Given the description of an element on the screen output the (x, y) to click on. 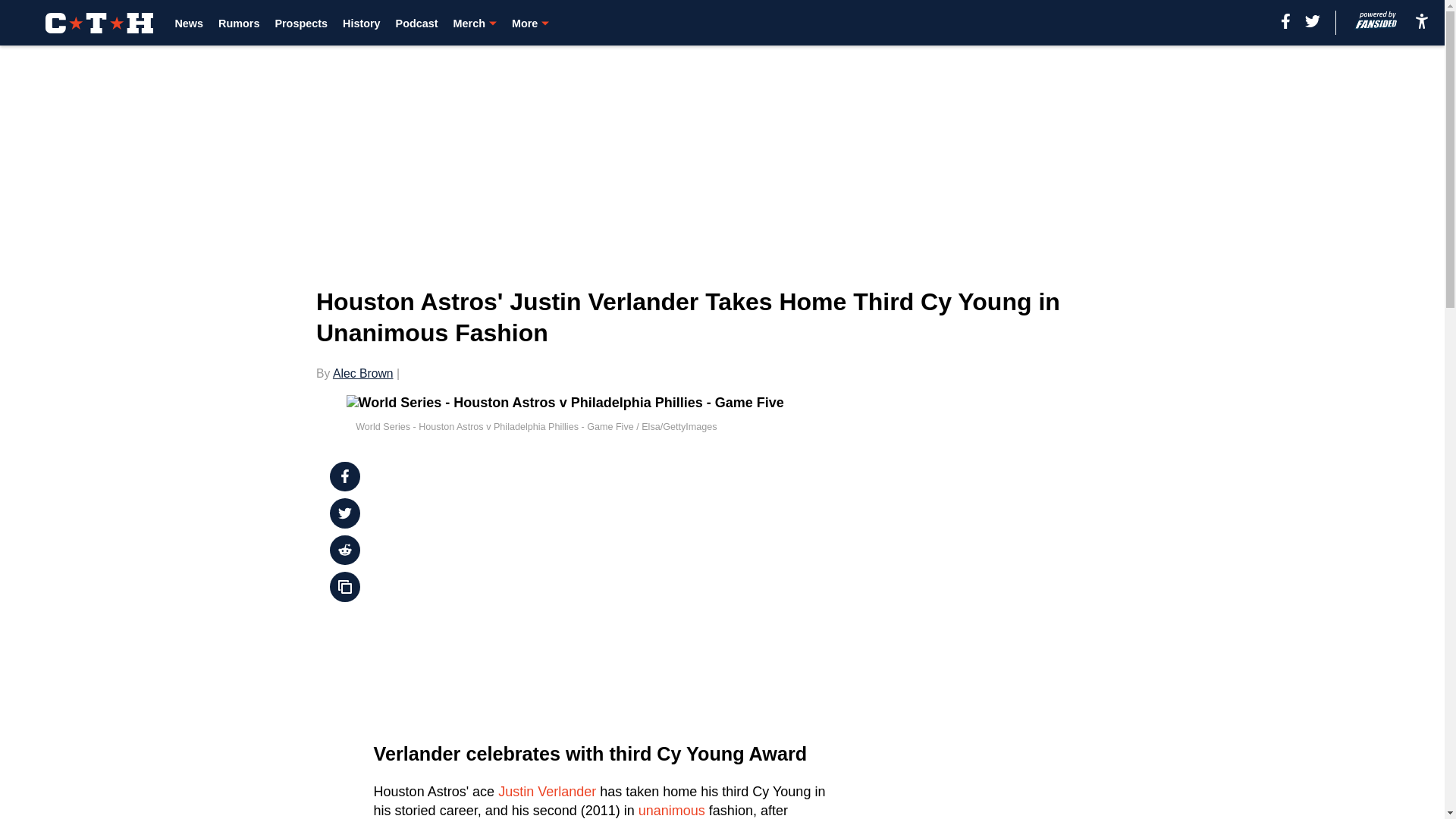
Podcast (417, 23)
Alec Brown (363, 373)
unanimous (671, 810)
Rumors (238, 23)
History (361, 23)
Prospects (301, 23)
News (188, 23)
Justin Verlander (546, 791)
